Given the description of an element on the screen output the (x, y) to click on. 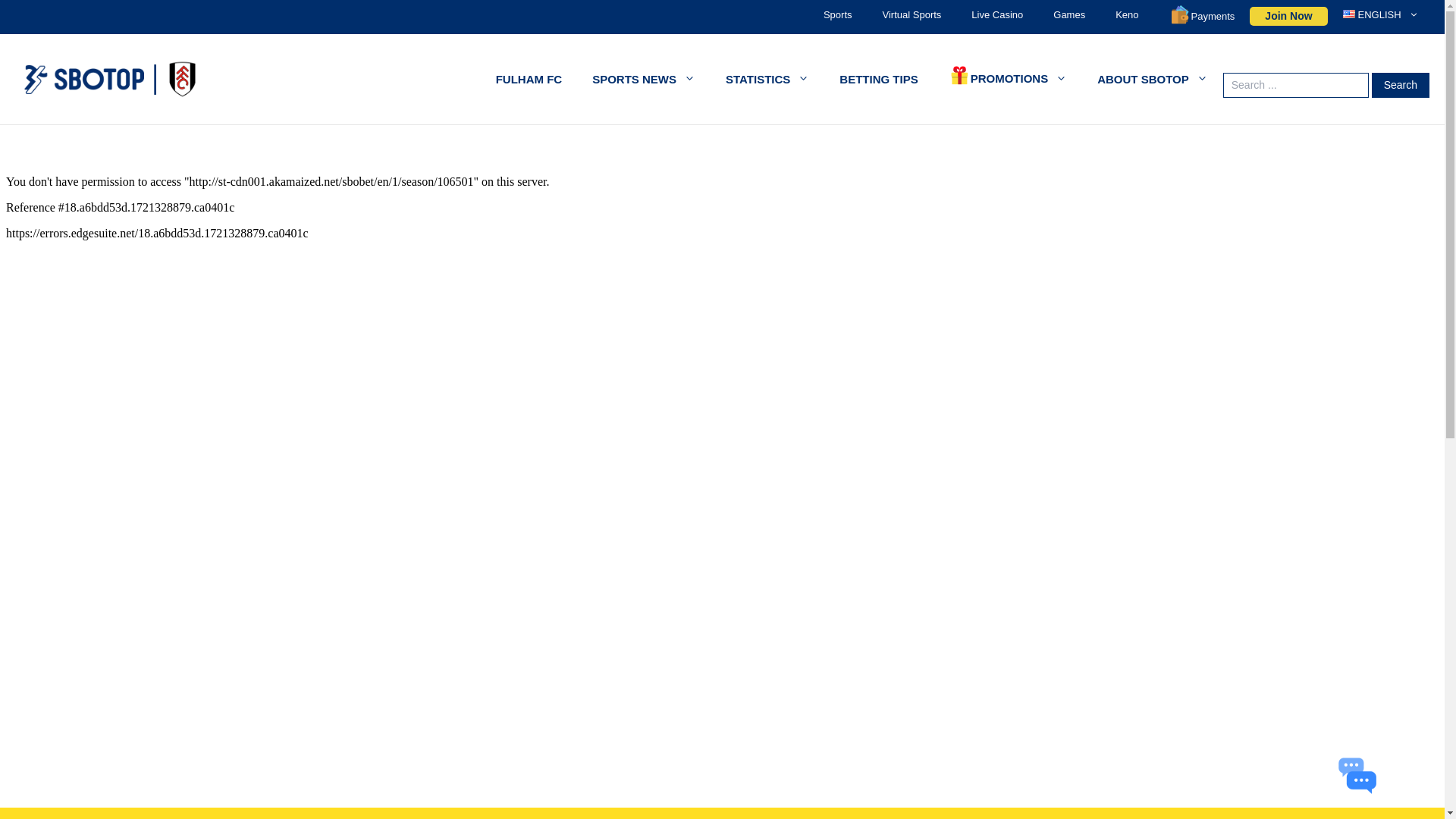
Virtual Sports (911, 15)
SBOTOP (109, 78)
Payments (1202, 17)
Games (1069, 15)
SPORTS NEWS (643, 78)
FULHAM FC (528, 78)
Sports (837, 15)
Join Now (1287, 15)
Keno (1126, 15)
Search (1400, 84)
Search (1400, 84)
Live Casino (997, 15)
